Given the description of an element on the screen output the (x, y) to click on. 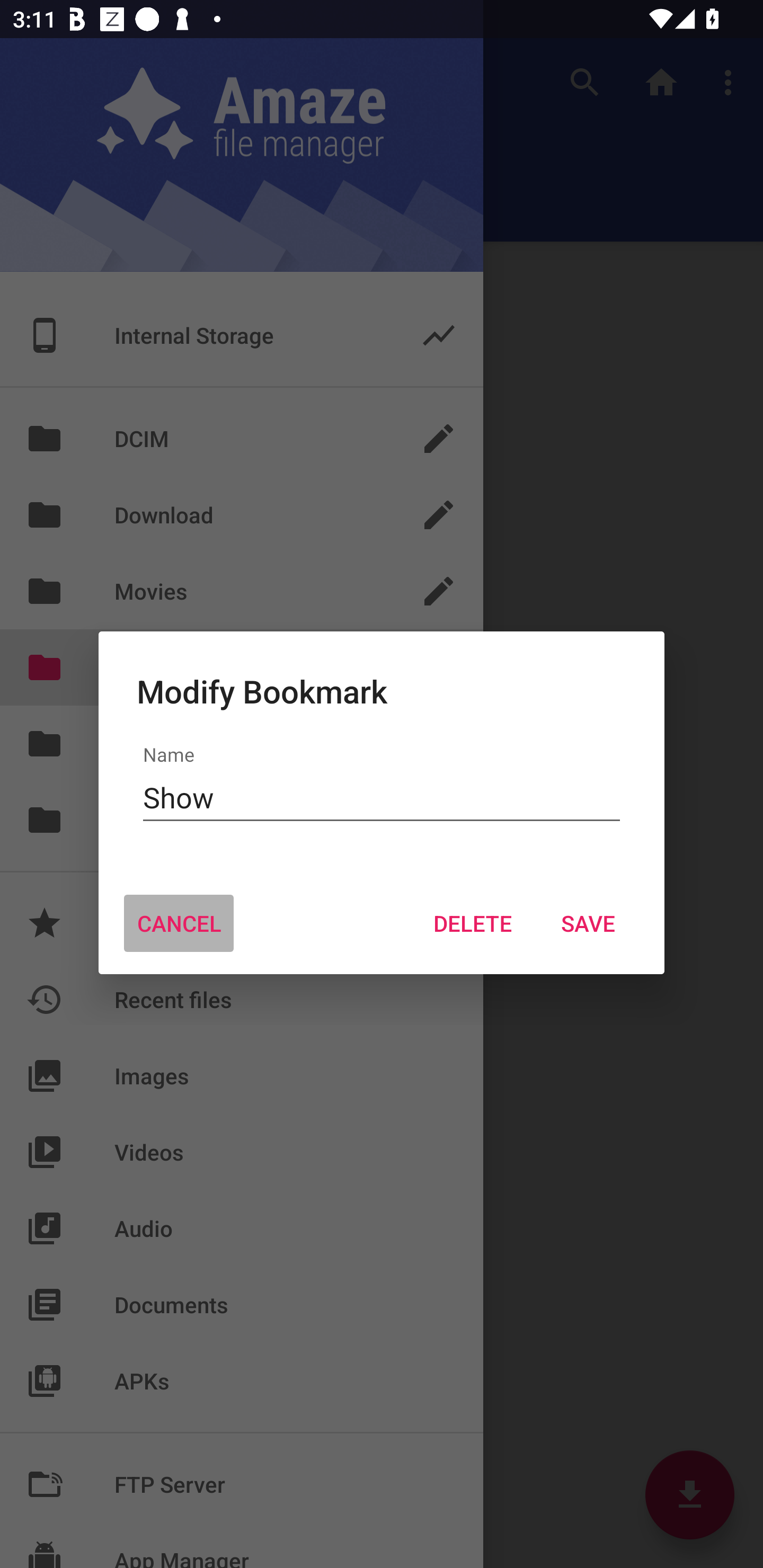
Show (381, 798)
CANCEL (178, 923)
DELETE (472, 923)
SAVE (588, 923)
